Given the description of an element on the screen output the (x, y) to click on. 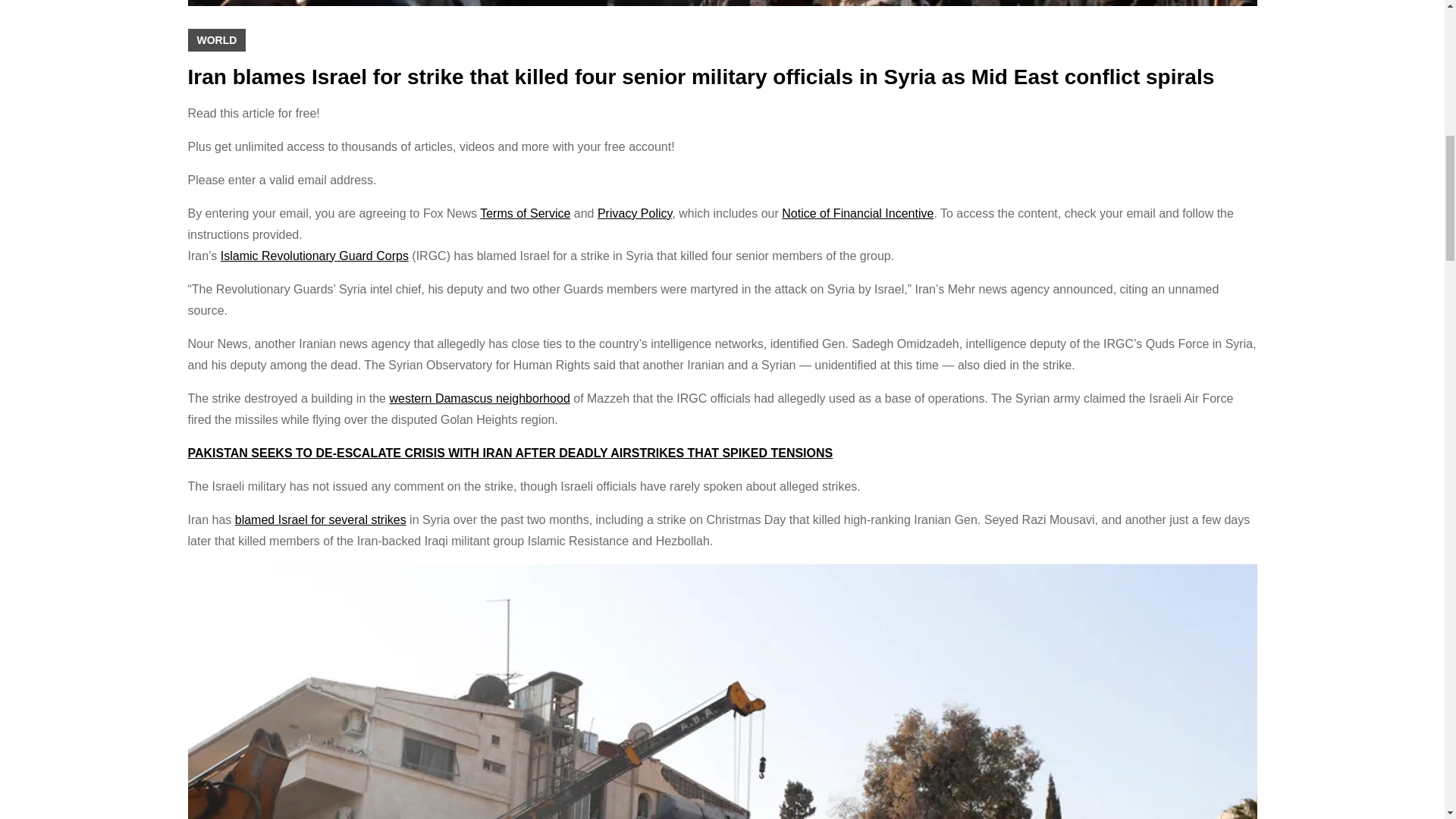
Terms of Service (525, 212)
Privacy Policy (633, 212)
WORLD (216, 39)
Notice of Financial Incentive (857, 212)
Islamic Revolutionary Guard Corps (315, 254)
blamed Israel for several strikes (320, 518)
western Damascus neighborhood (478, 397)
